Given the description of an element on the screen output the (x, y) to click on. 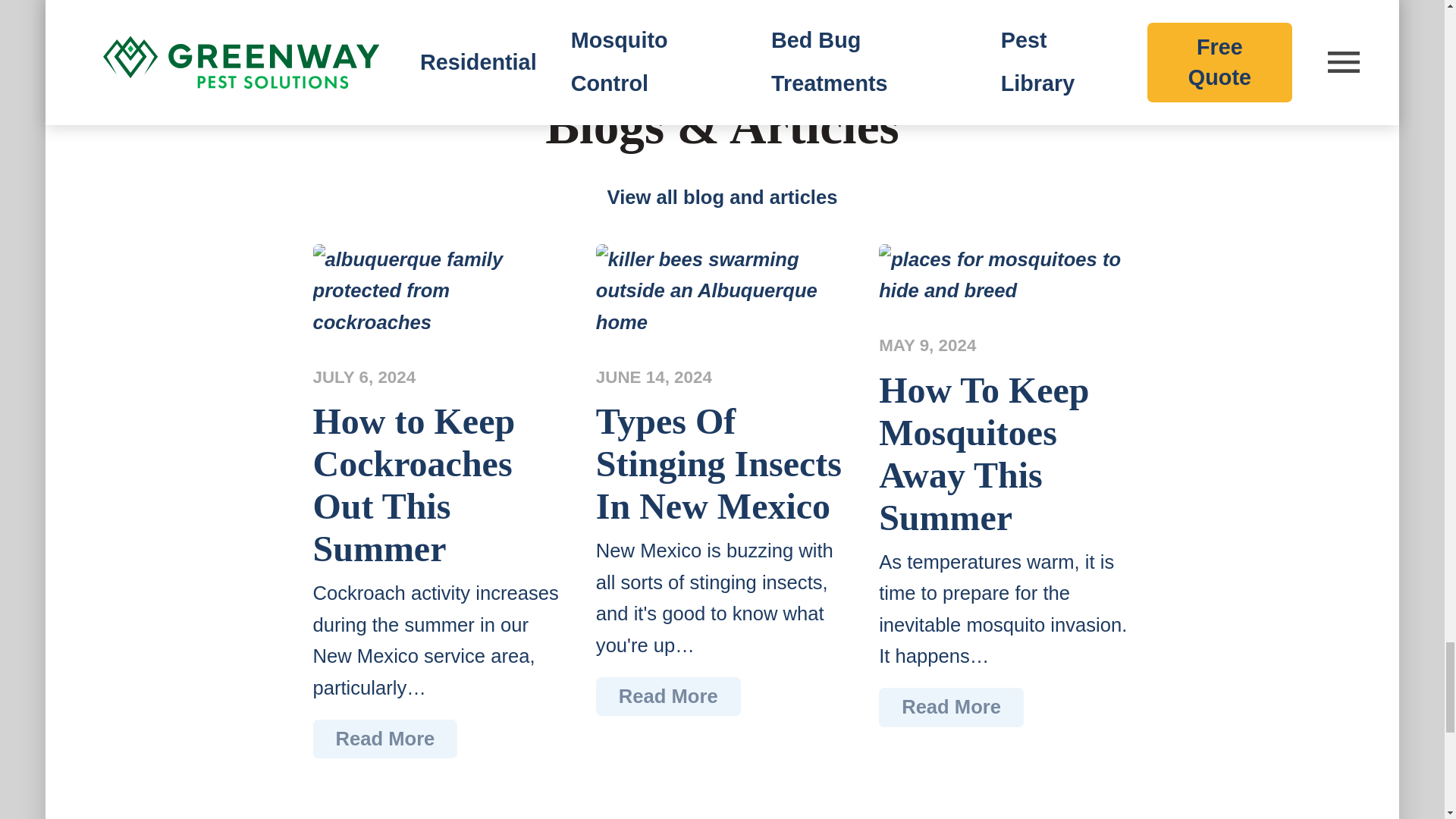
Quote Request Form (722, 12)
